Given the description of an element on the screen output the (x, y) to click on. 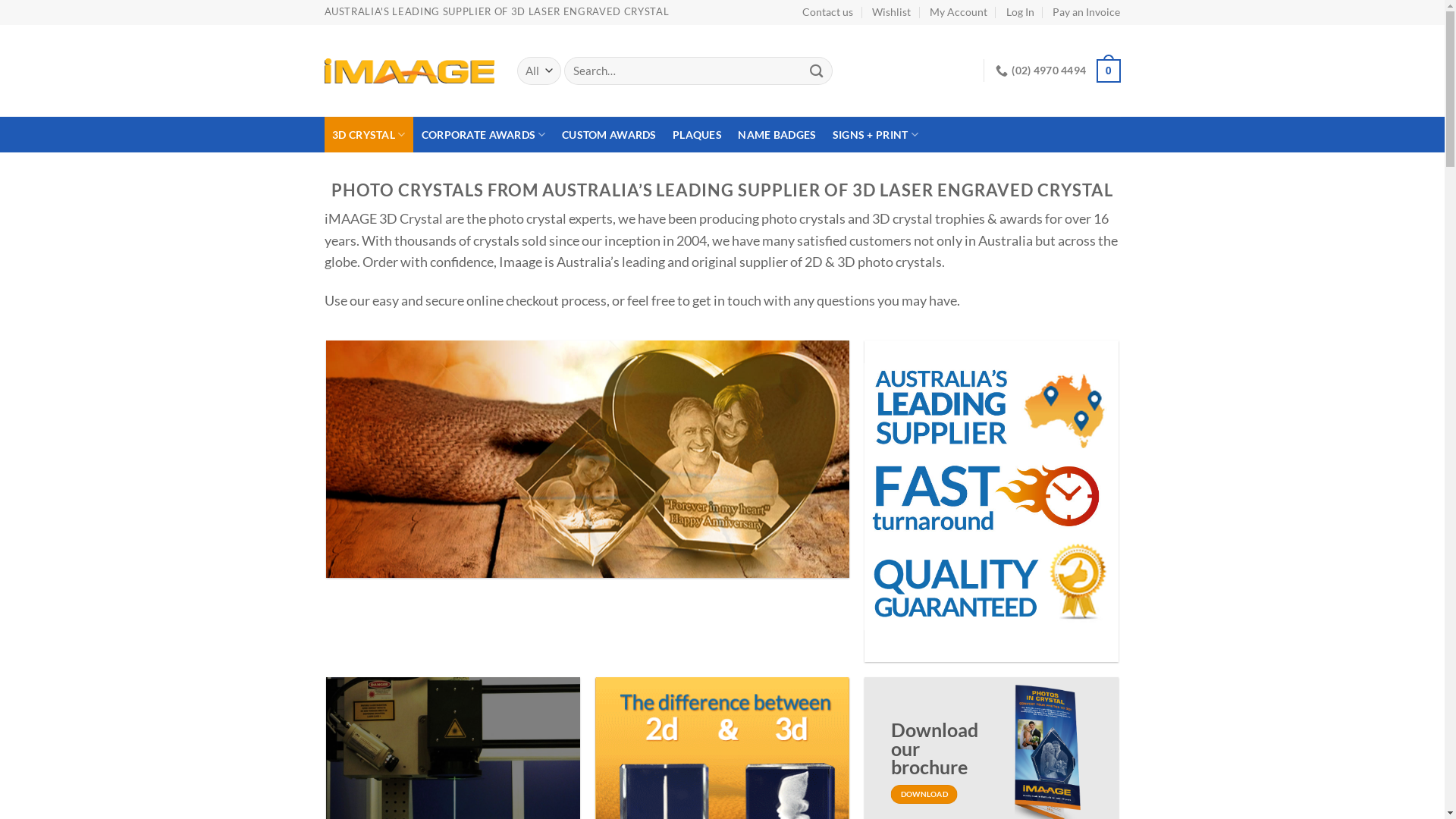
3D CRYSTAL Element type: text (369, 134)
DOWNLOAD Element type: text (924, 793)
CUSTOM AWARDS Element type: text (608, 134)
Pay an Invoice Element type: text (1086, 12)
My Account Element type: text (958, 12)
iMAAGE.com.au - Australia's Leading supplier of 3D Crystal Element type: hover (409, 70)
Wishlist Element type: text (891, 12)
SIGNS + PRINT Element type: text (874, 134)
0 Element type: text (1108, 70)
Search Element type: text (816, 70)
Log In Element type: text (1020, 12)
NAME BADGES Element type: text (777, 134)
PLAQUES Element type: text (696, 134)
CORPORATE AWARDS Element type: text (483, 134)
Contact us Element type: text (827, 12)
(02) 4970 4494 Element type: text (1040, 70)
